Given the description of an element on the screen output the (x, y) to click on. 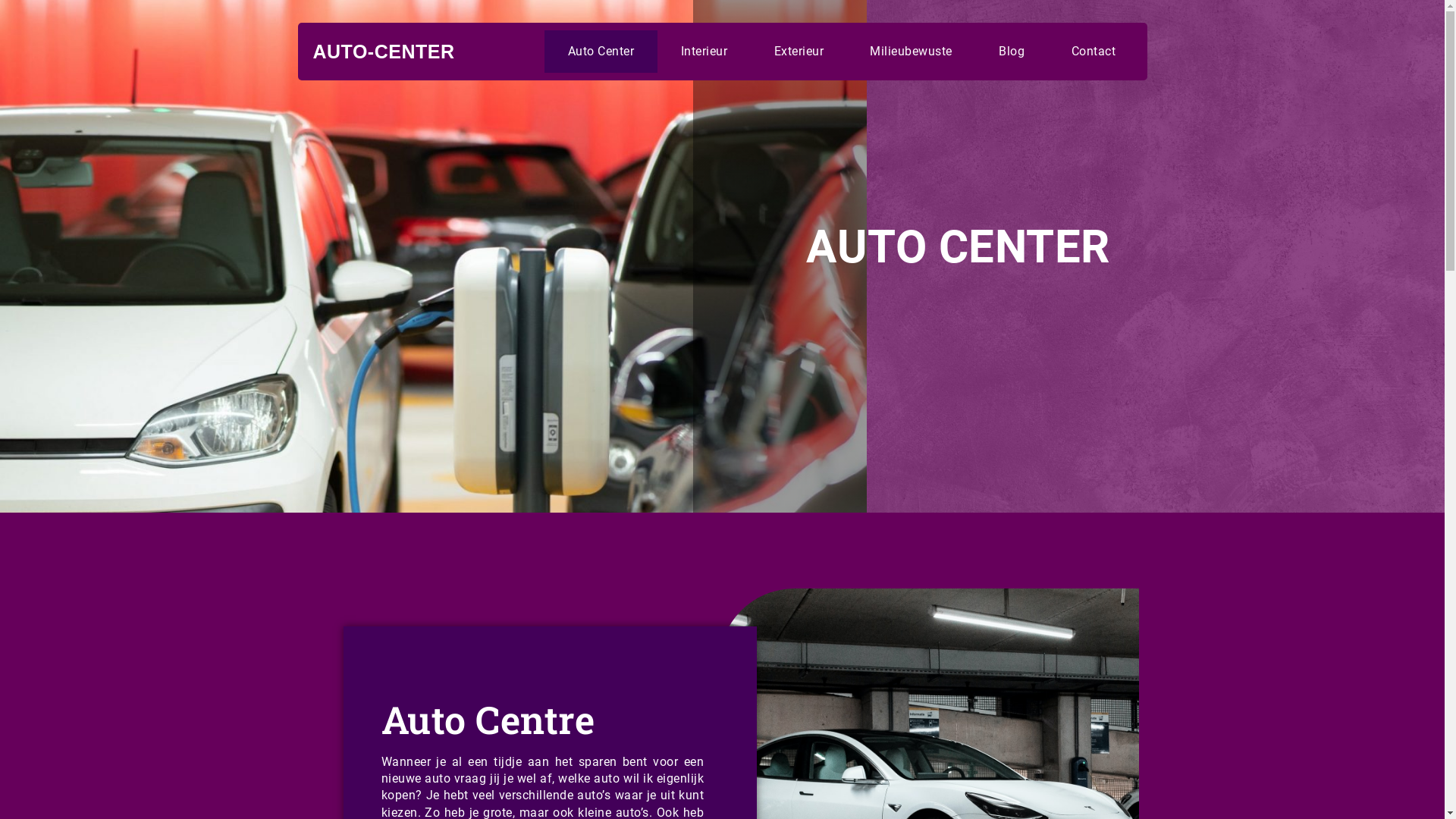
Interieur Element type: text (703, 51)
Exterieur Element type: text (798, 51)
Blog Element type: text (1011, 51)
Auto Center Element type: text (600, 51)
AUTO-CENTER Element type: text (383, 51)
Contact Element type: text (1093, 51)
Milieubewuste Element type: text (911, 51)
